Given the description of an element on the screen output the (x, y) to click on. 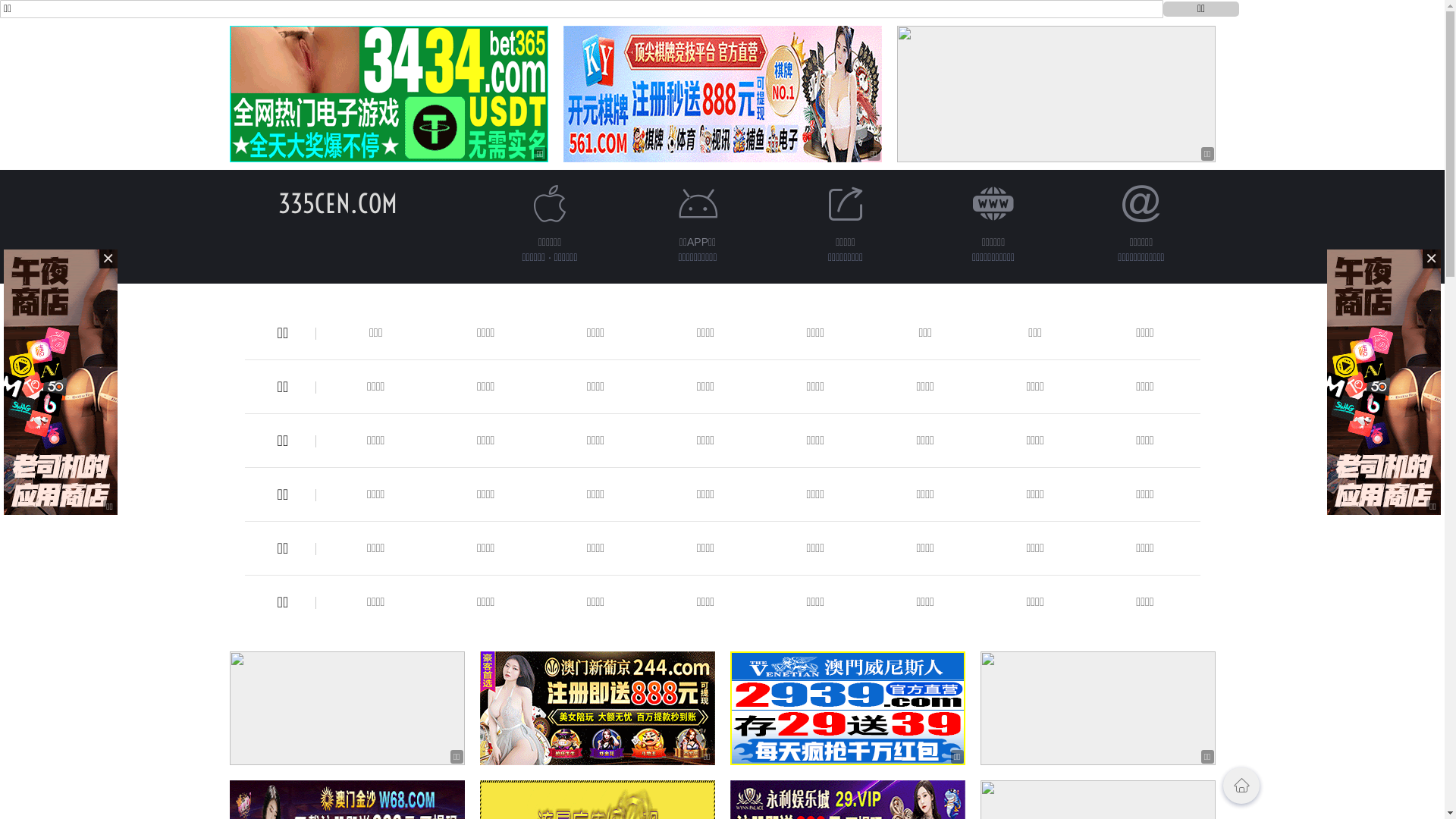
335CEN.COM Element type: text (337, 203)
